Given the description of an element on the screen output the (x, y) to click on. 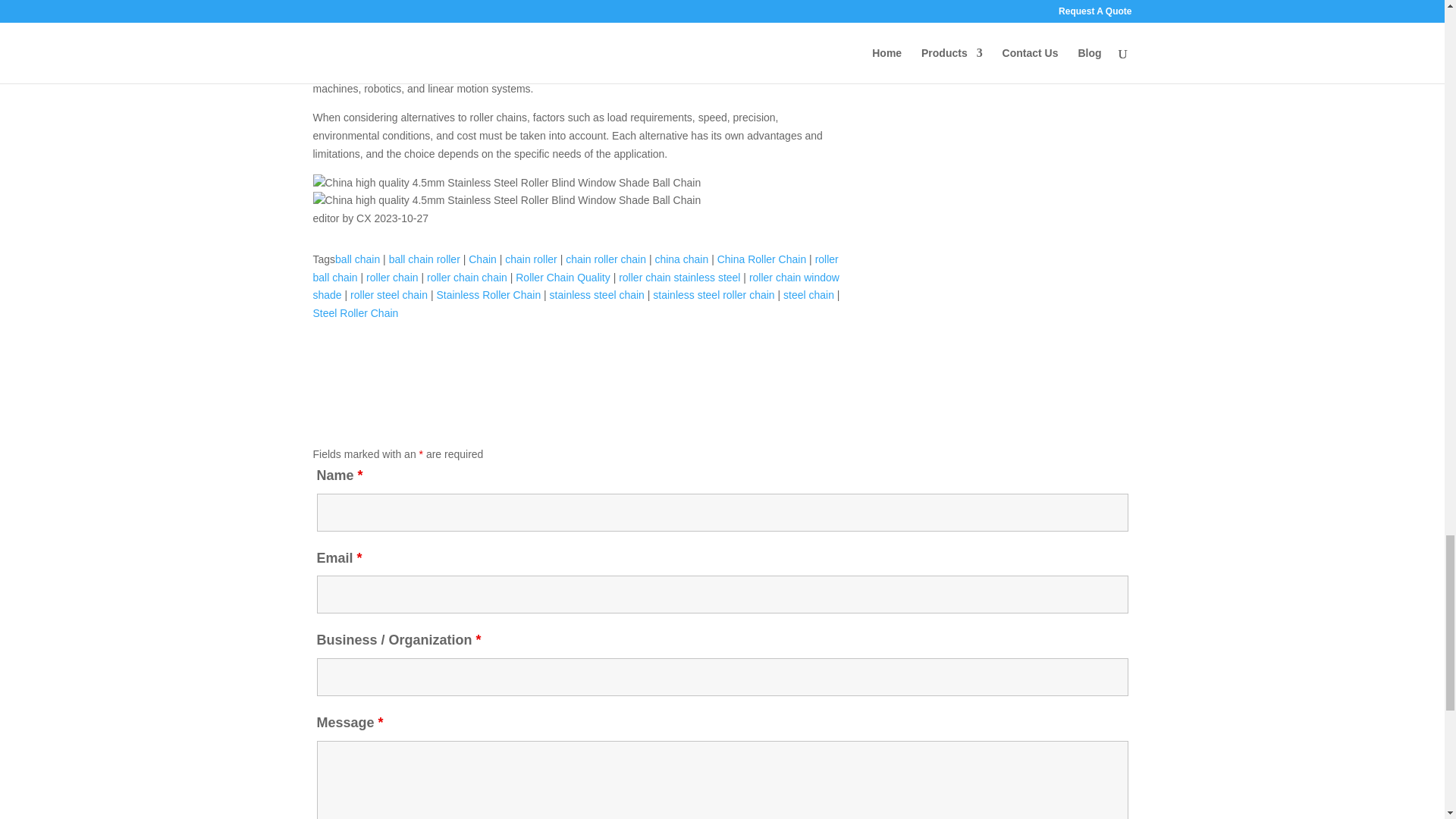
ball chain (357, 259)
roller chain stainless steel (678, 277)
roller steel chain (389, 295)
China Roller Chain (761, 259)
stainless steel chain (597, 295)
Roller Chain Quality (562, 277)
roller ball chain (575, 268)
china chain (680, 259)
chain roller (530, 259)
Chain (482, 259)
